Given the description of an element on the screen output the (x, y) to click on. 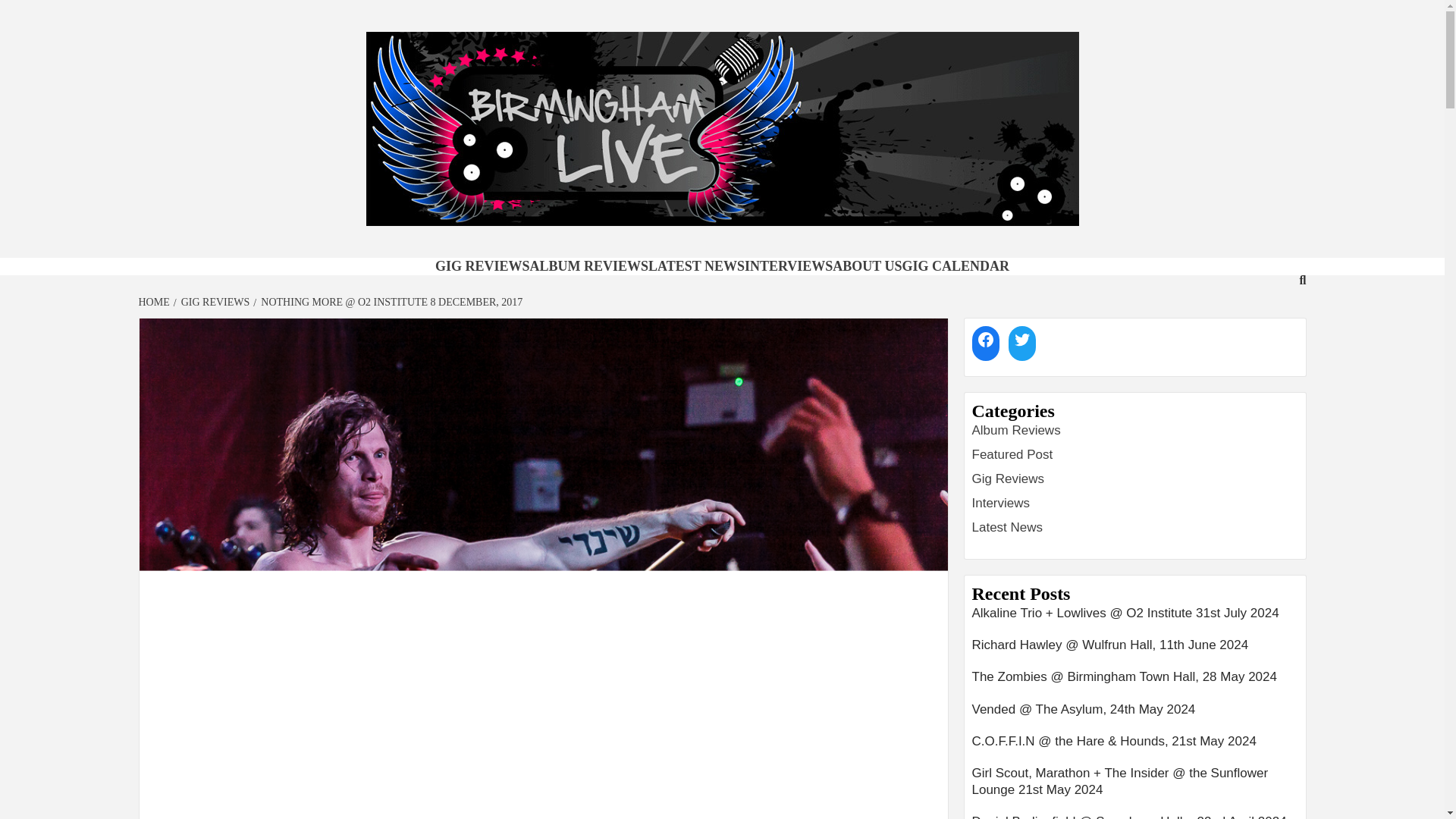
ALBUM REVIEWS (588, 265)
GIG REVIEWS (213, 301)
HOME (155, 301)
GIG CALENDAR (956, 265)
Gig Reviews (1007, 478)
Interviews (1001, 503)
GIG REVIEWS (482, 265)
ABOUT US (866, 265)
Twitter (1022, 338)
Latest News (1007, 527)
